Given the description of an element on the screen output the (x, y) to click on. 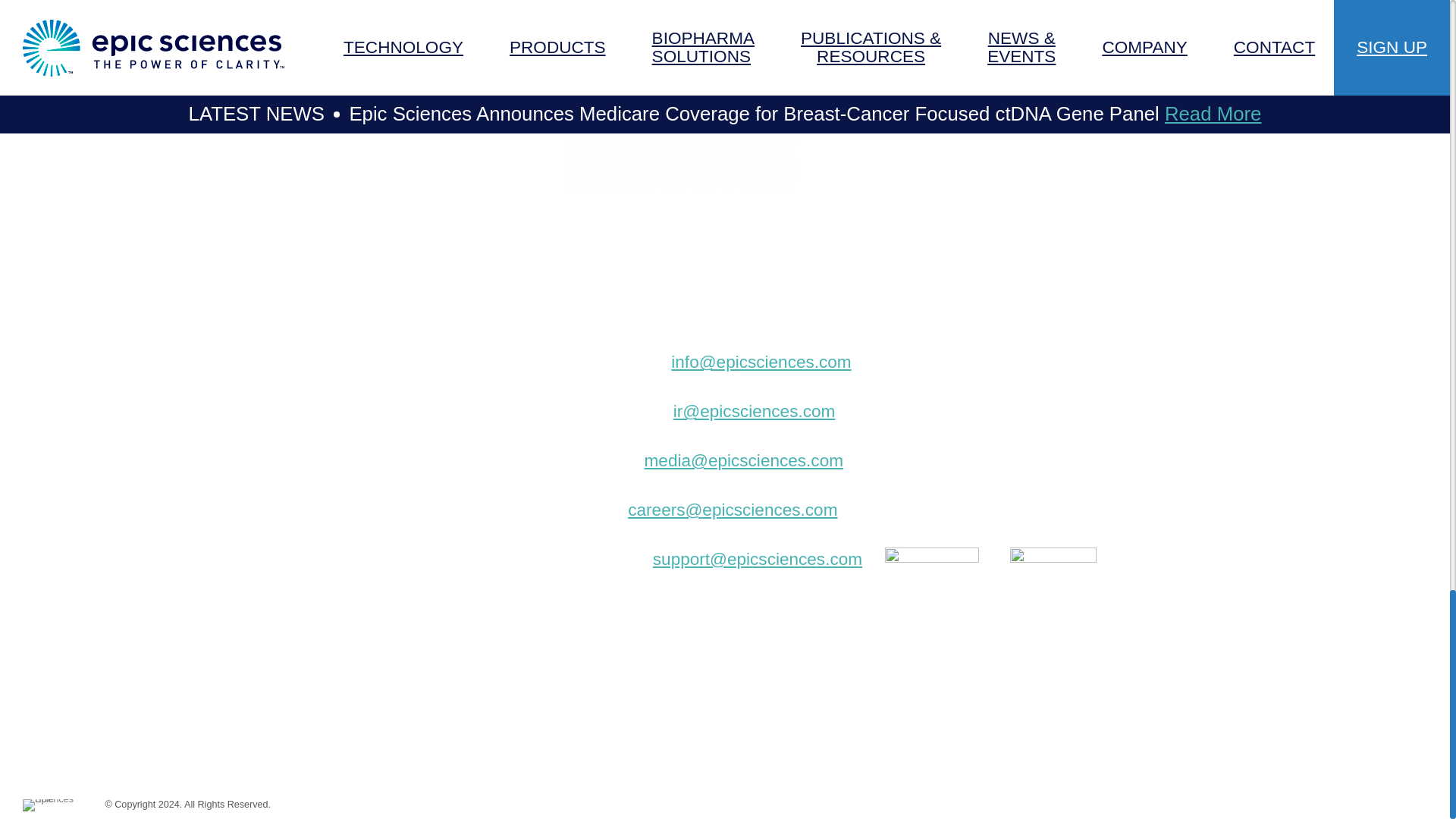
Publications (361, 356)
AR-V7 Test (358, 290)
Epic Sciences - The Epic Story (52, 804)
News Center (364, 389)
Biopharma Solutions (394, 324)
